Given the description of an element on the screen output the (x, y) to click on. 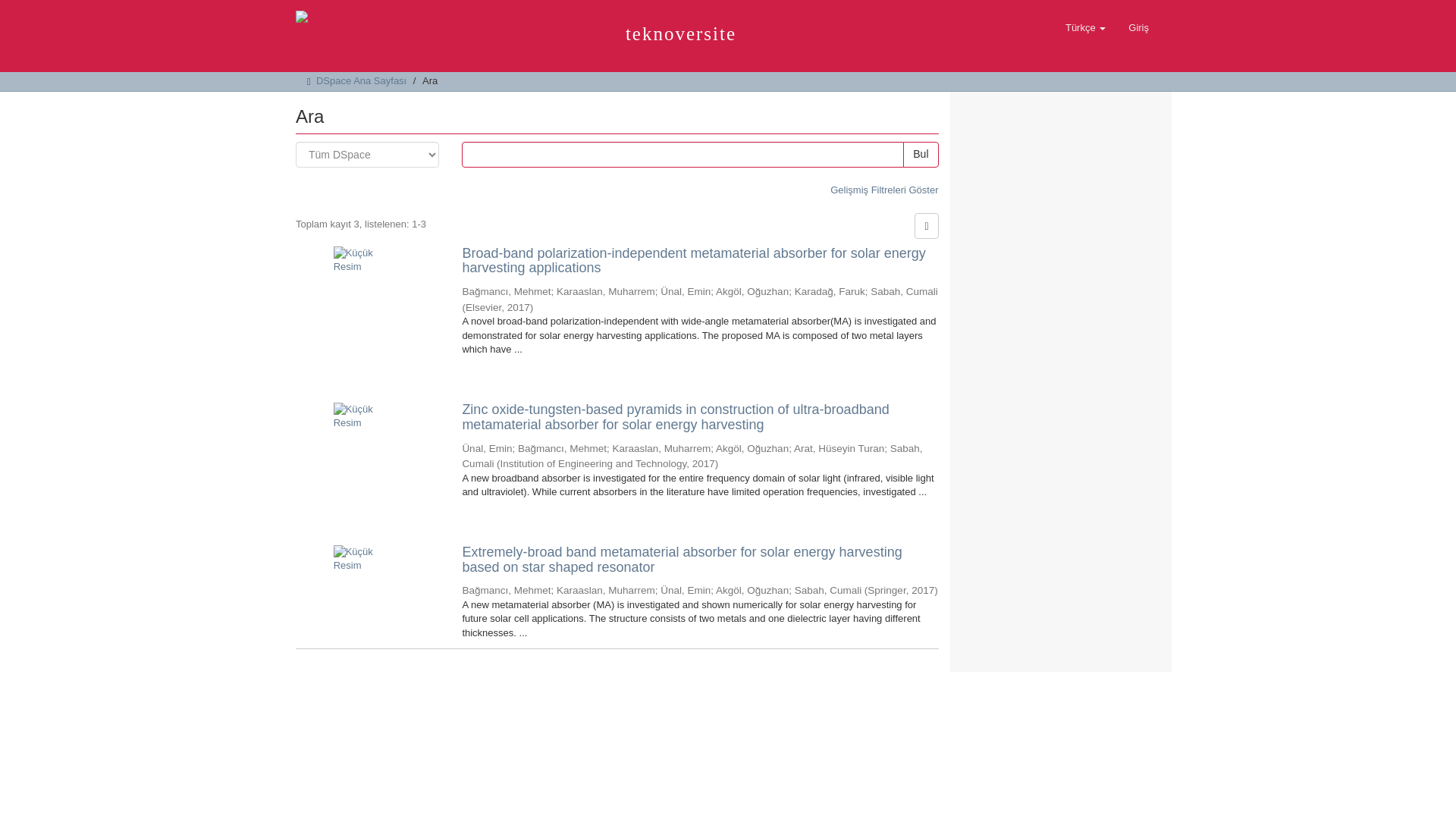
Bul (919, 154)
